Given the description of an element on the screen output the (x, y) to click on. 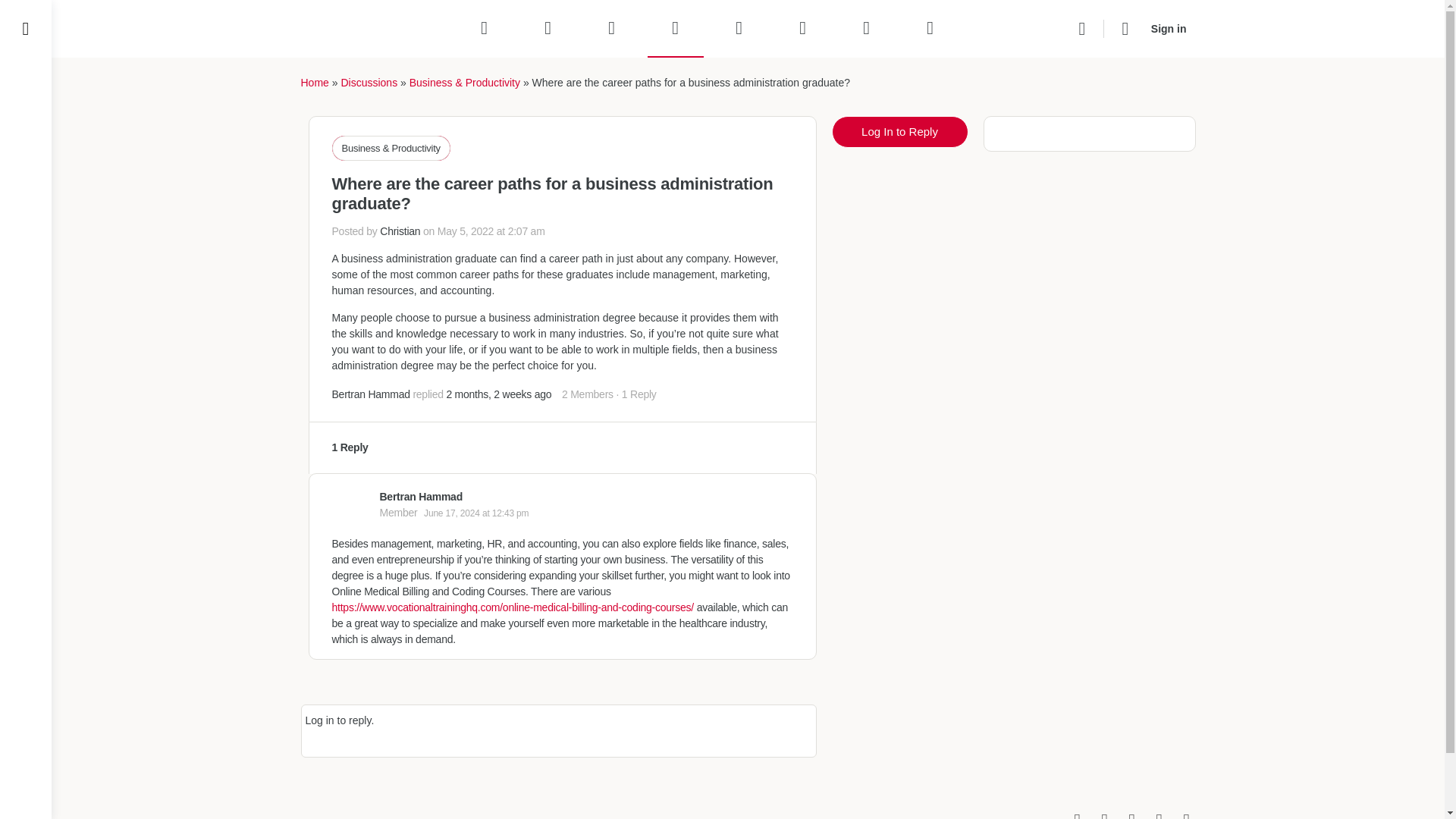
Christian (400, 231)
View Bertran Hammad's profile (419, 496)
View Bertran Hammad's profile (370, 394)
Discussions (368, 82)
Bertran Hammad (370, 394)
View Bertran Hammad's profile (349, 503)
View Christian's profile (400, 231)
Home (314, 82)
Sign in (1168, 28)
